Given the description of an element on the screen output the (x, y) to click on. 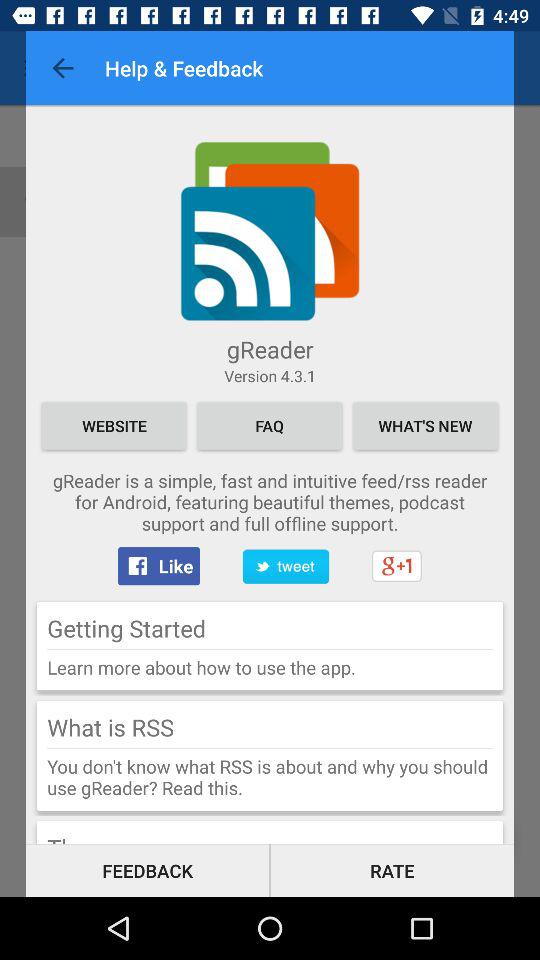
turn on item above website icon (269, 375)
